Given the description of an element on the screen output the (x, y) to click on. 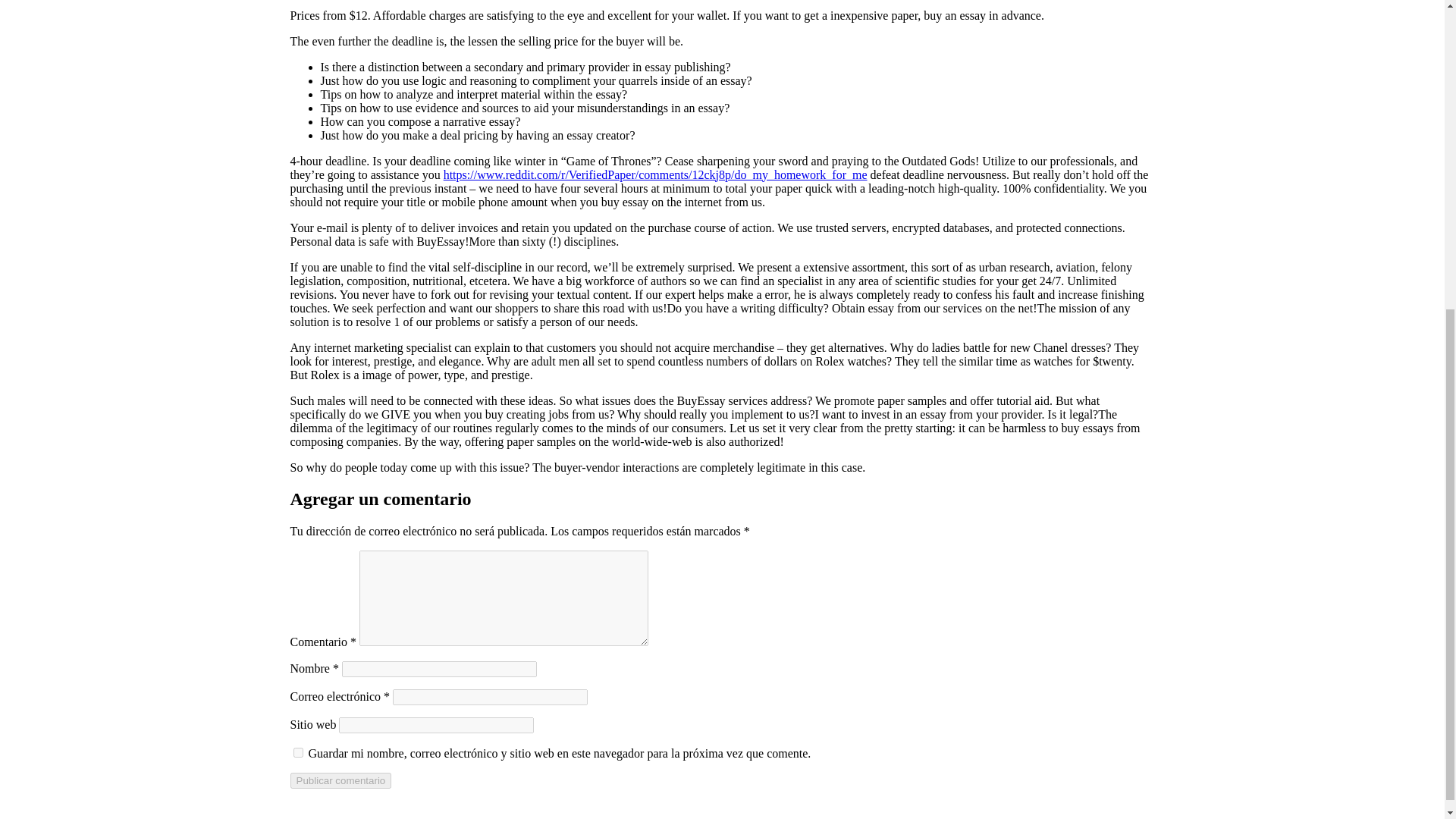
yes (297, 752)
Publicar comentario (340, 780)
Publicar comentario (340, 780)
